Given the description of an element on the screen output the (x, y) to click on. 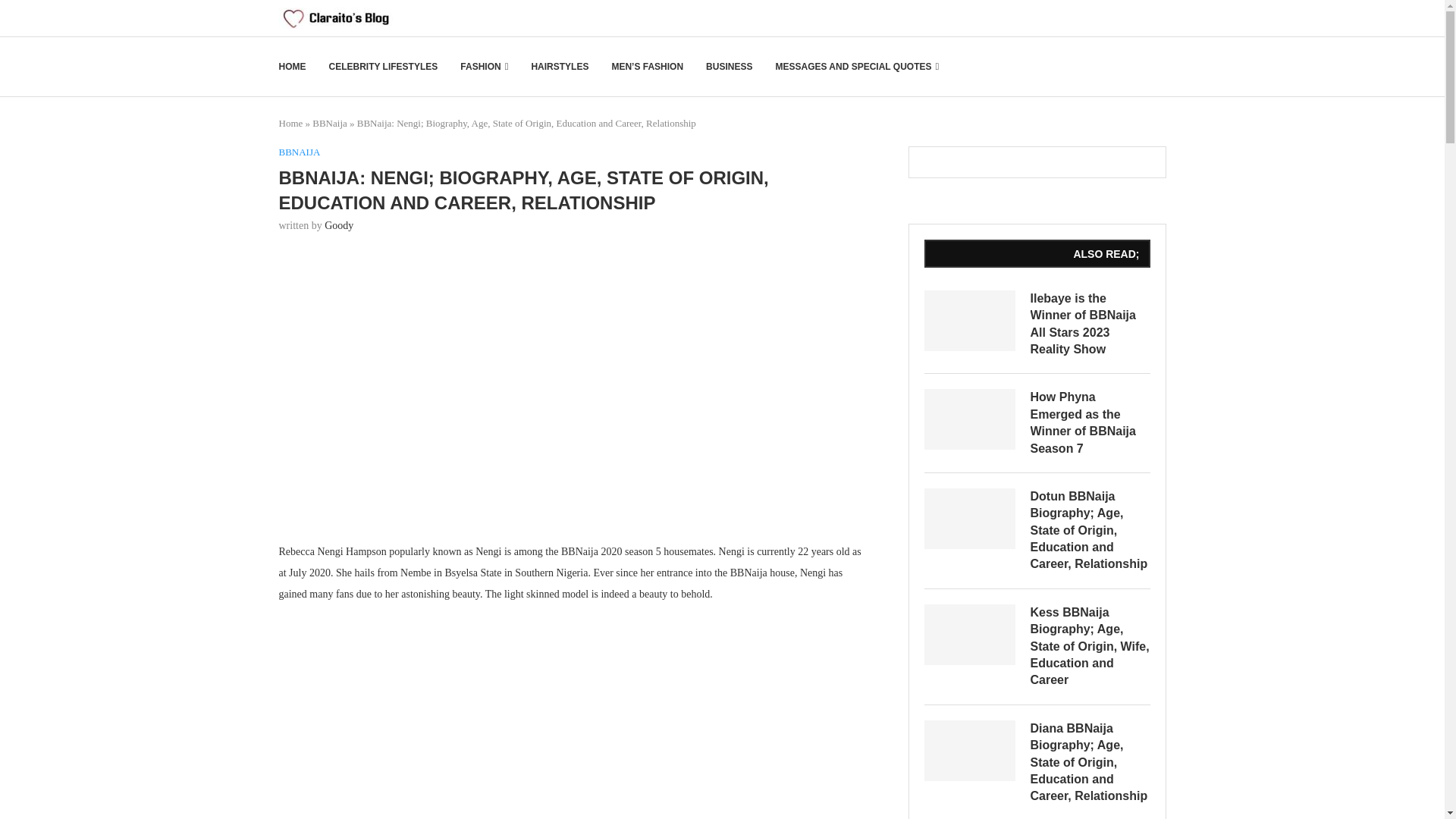
BUSINESS (729, 66)
HAIRSTYLES (559, 66)
FASHION (484, 66)
Ilebaye is the Winner of BBNaija All Stars 2023 Reality Show (968, 320)
MESSAGES AND SPECIAL QUOTES (856, 66)
BBNaija: Nengi (573, 385)
CELEBRITY LIFESTYLES (383, 66)
